Given the description of an element on the screen output the (x, y) to click on. 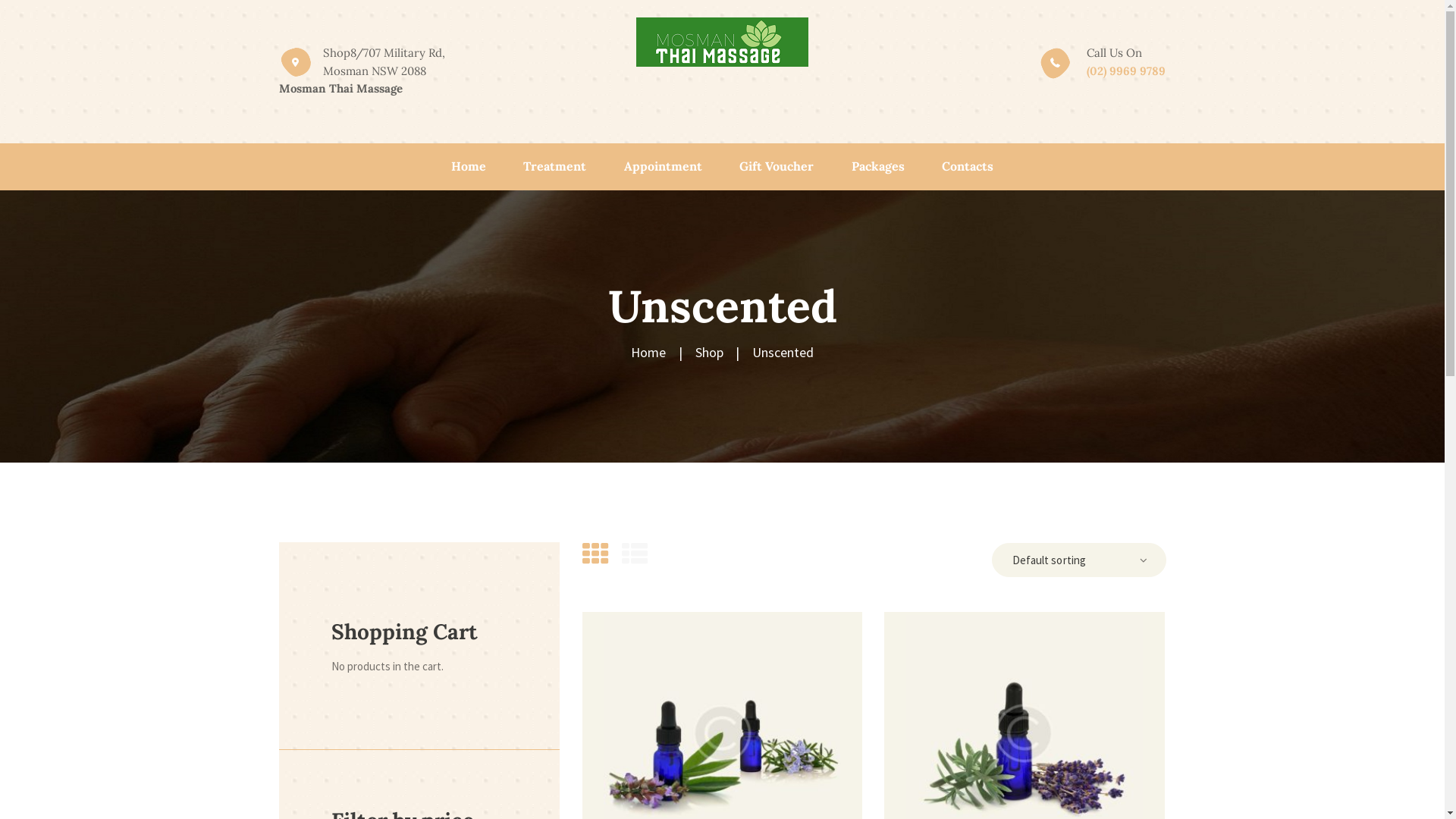
Home Element type: text (468, 166)
Shop Element type: text (708, 352)
Treatment Element type: text (554, 166)
Appointment Element type: text (663, 166)
Show products as list Element type: hover (634, 553)
Packages Element type: text (877, 166)
Gift Voucher Element type: text (776, 166)
Show products as thumbs Element type: hover (595, 553)
Contacts Element type: text (968, 166)
(02) 9969 9789 Element type: text (1125, 70)
Home Element type: text (647, 352)
